Given the description of an element on the screen output the (x, y) to click on. 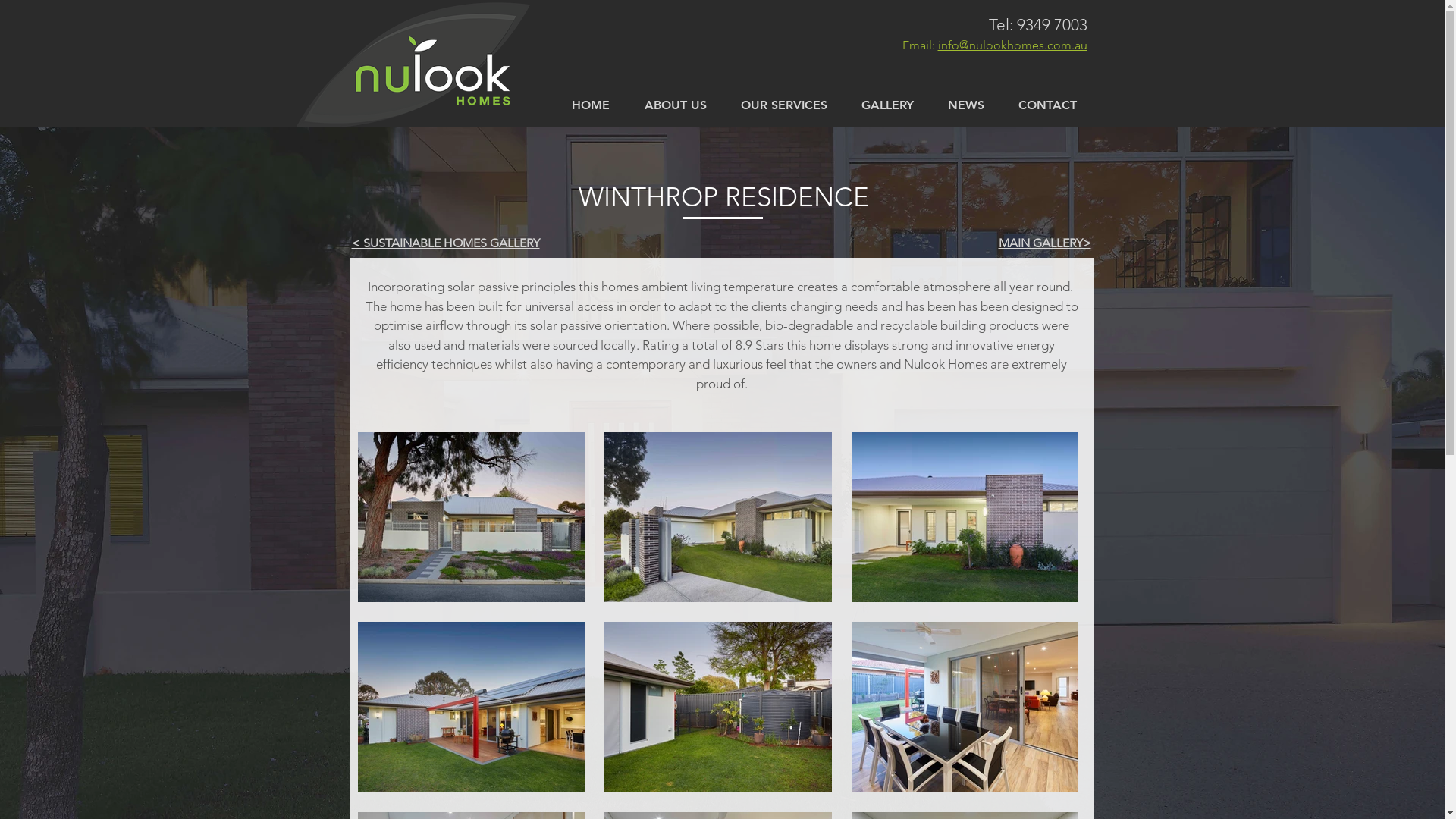
CONTACT Element type: text (1047, 104)
GALLERY Element type: text (887, 104)
ABOUT US Element type: text (674, 104)
HOME Element type: text (589, 104)
MAIN GALLERY> Element type: text (1043, 242)
OUR SERVICES Element type: text (783, 104)
info@nulookhomes.com.au Element type: text (1011, 44)
< SUSTAINABLE HOMES GALLERY Element type: text (445, 242)
NEWS Element type: text (966, 104)
